Given the description of an element on the screen output the (x, y) to click on. 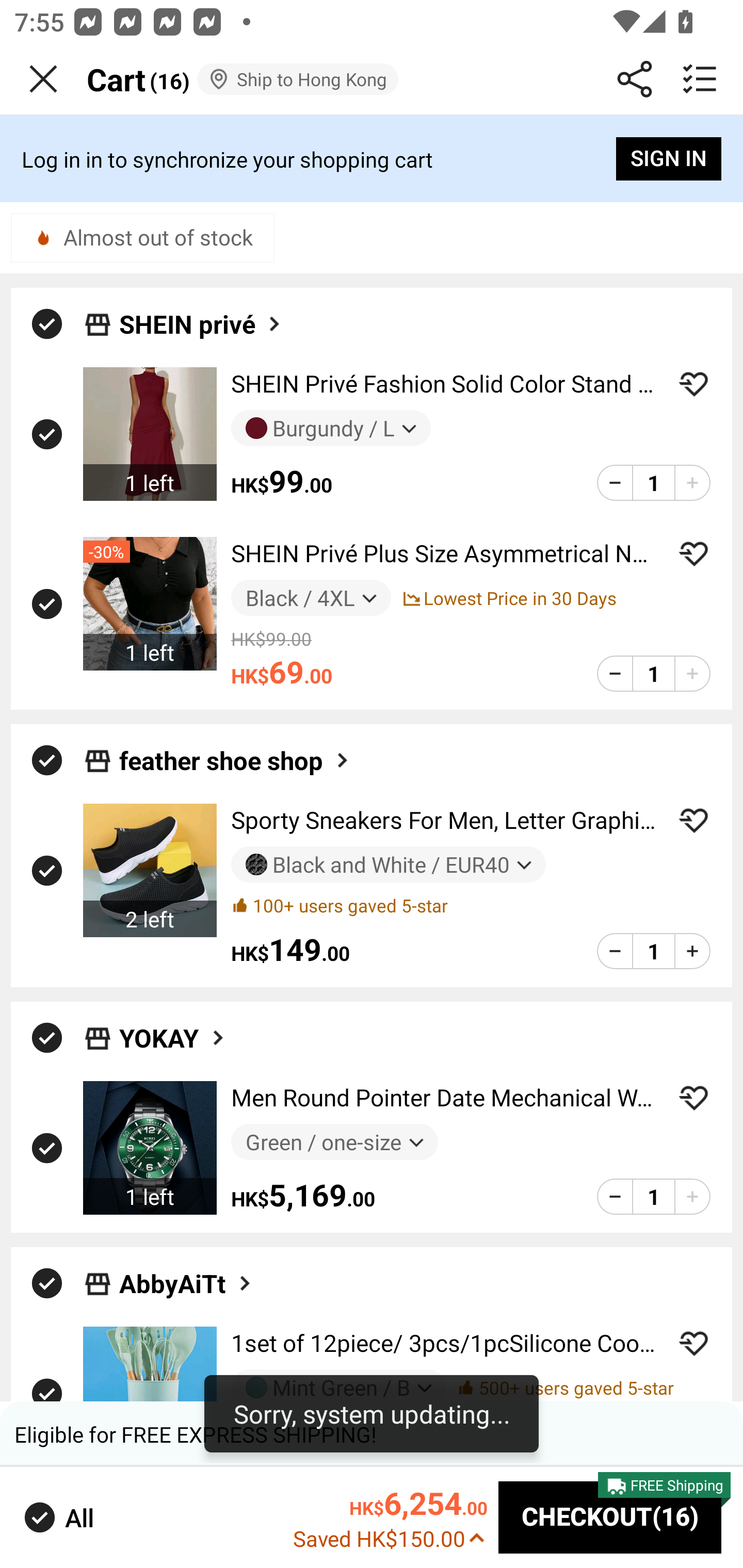
BACK (43, 78)
Share (634, 79)
batch delete (699, 79)
Ship to Hong Kong (297, 78)
SIGN IN (668, 158)
Almost out of stock (142, 237)
SHEIN privé (201, 323)
ADD TO WISHLIST (693, 383)
 Burgundy / L (330, 428)
product quantity minus 1 (614, 482)
1 edit product quantity (653, 482)
product quantity add 1 (692, 482)
ADD TO WISHLIST (693, 553)
Black / 4XL (310, 598)
product quantity minus 1 (614, 673)
1 edit product quantity (653, 673)
product quantity add 1 (692, 673)
feather shoe shop (235, 760)
ADD TO WISHLIST (693, 819)
 Black and White / EUR40 (388, 864)
product quantity minus 1 (614, 950)
1 edit product quantity (653, 950)
product quantity add 1 (692, 950)
YOKAY (173, 1037)
ADD TO WISHLIST (693, 1097)
Green / one-size (334, 1142)
product quantity minus 1 (614, 1197)
1 edit product quantity (653, 1197)
product quantity add 1 (692, 1197)
AbbyAiTt (186, 1282)
ADD TO WISHLIST (693, 1342)
Eligible for FREE EXPRESS SHIPPING! (371, 1434)
CHECKOUT(16) (609, 1517)
HK$6,254.00 Saved HK$150.00 (389, 1516)
